Given the description of an element on the screen output the (x, y) to click on. 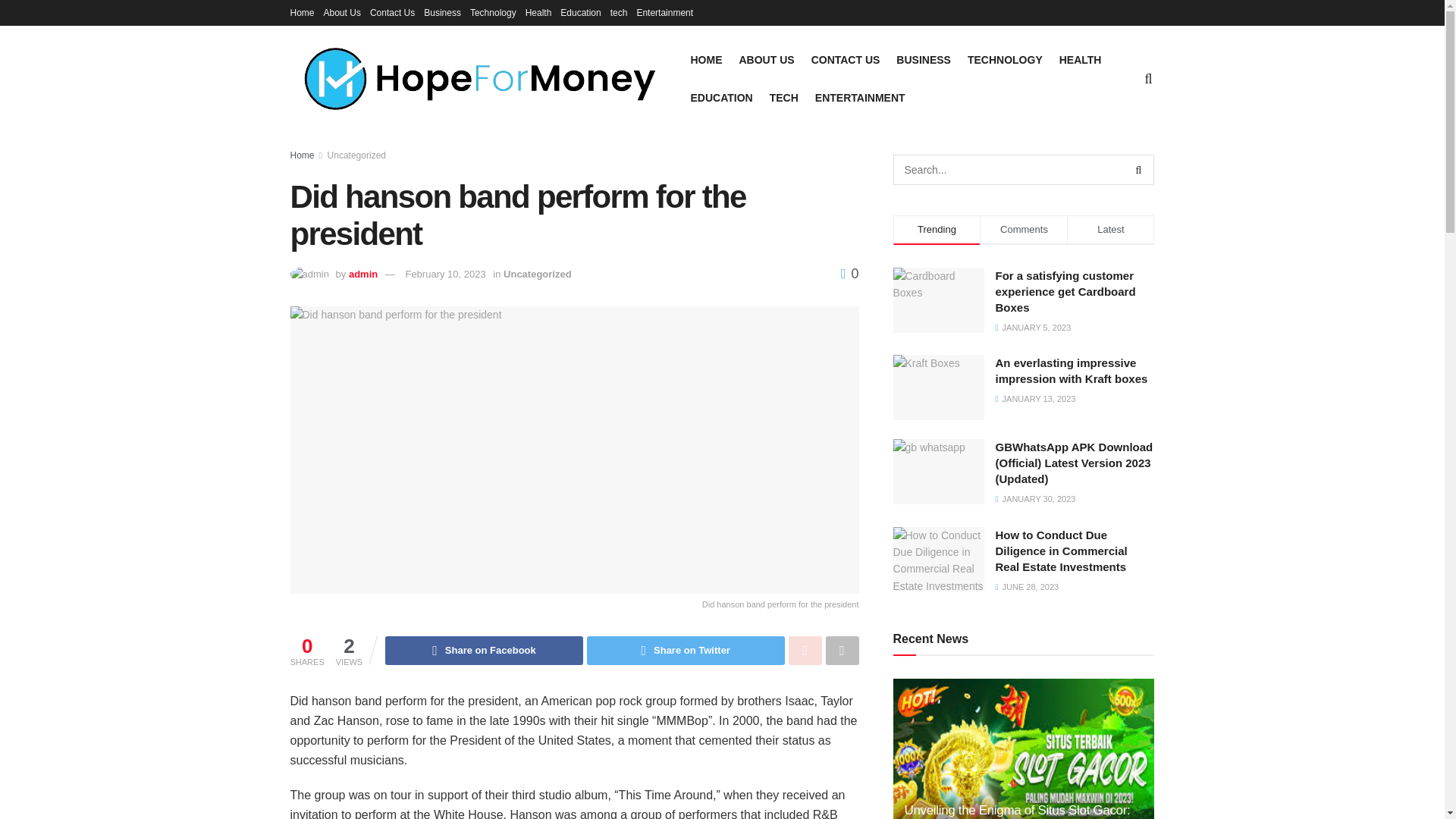
ENTERTAINMENT (860, 97)
Education (579, 12)
ABOUT US (765, 59)
TECH (783, 97)
Uncategorized (356, 154)
Home (301, 12)
About Us (342, 12)
Contact Us (391, 12)
EDUCATION (721, 97)
HOME (706, 59)
HEALTH (1080, 59)
CONTACT US (845, 59)
Technology (493, 12)
Business (442, 12)
BUSINESS (923, 59)
